Given the description of an element on the screen output the (x, y) to click on. 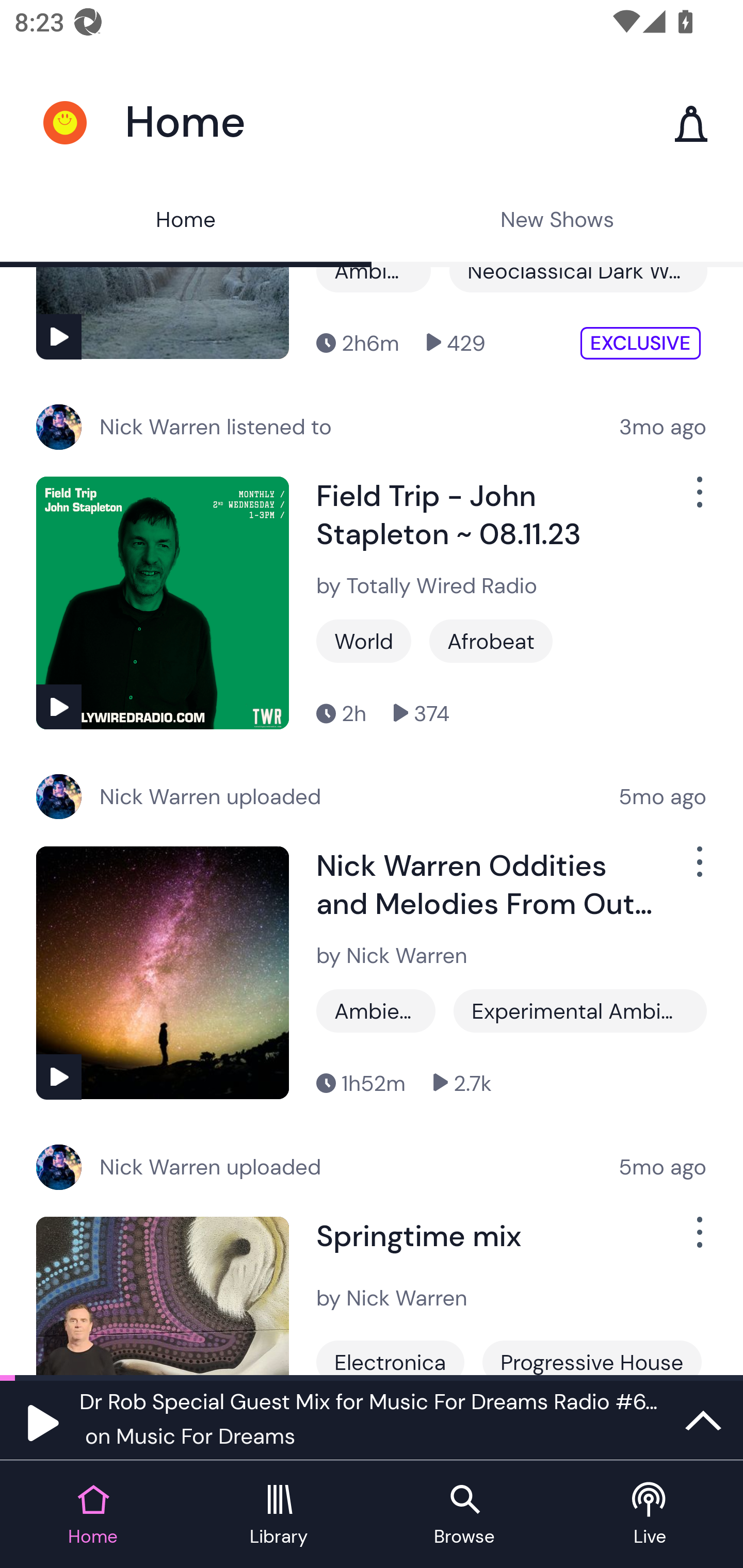
Home (185, 221)
New Shows (557, 221)
Show Options Menu Button (697, 499)
World (363, 641)
Afrobeat (490, 641)
Show Options Menu Button (697, 869)
Ambient (375, 1011)
Experimental Ambient (579, 1011)
Show Options Menu Button (697, 1239)
Electronica (390, 1357)
Progressive House (591, 1357)
Home tab Home (92, 1515)
Library tab Library (278, 1515)
Browse tab Browse (464, 1515)
Live tab Live (650, 1515)
